Given the description of an element on the screen output the (x, y) to click on. 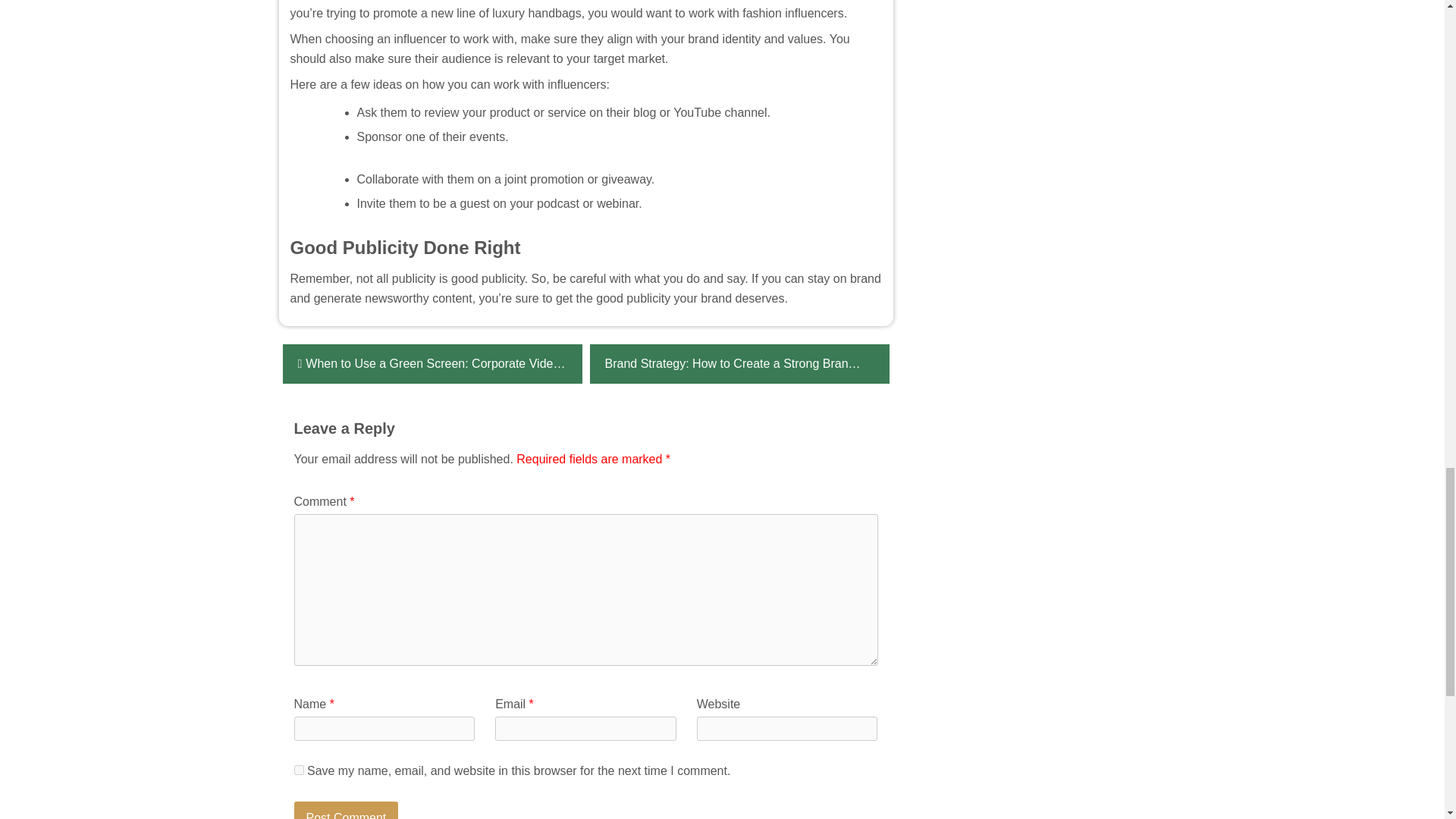
yes (299, 769)
Post Comment (346, 810)
Post Comment (346, 810)
Brand Strategy: How to Create a Strong Brand Identity (739, 363)
When to Use a Green Screen: Corporate Video Tips (431, 363)
